Given the description of an element on the screen output the (x, y) to click on. 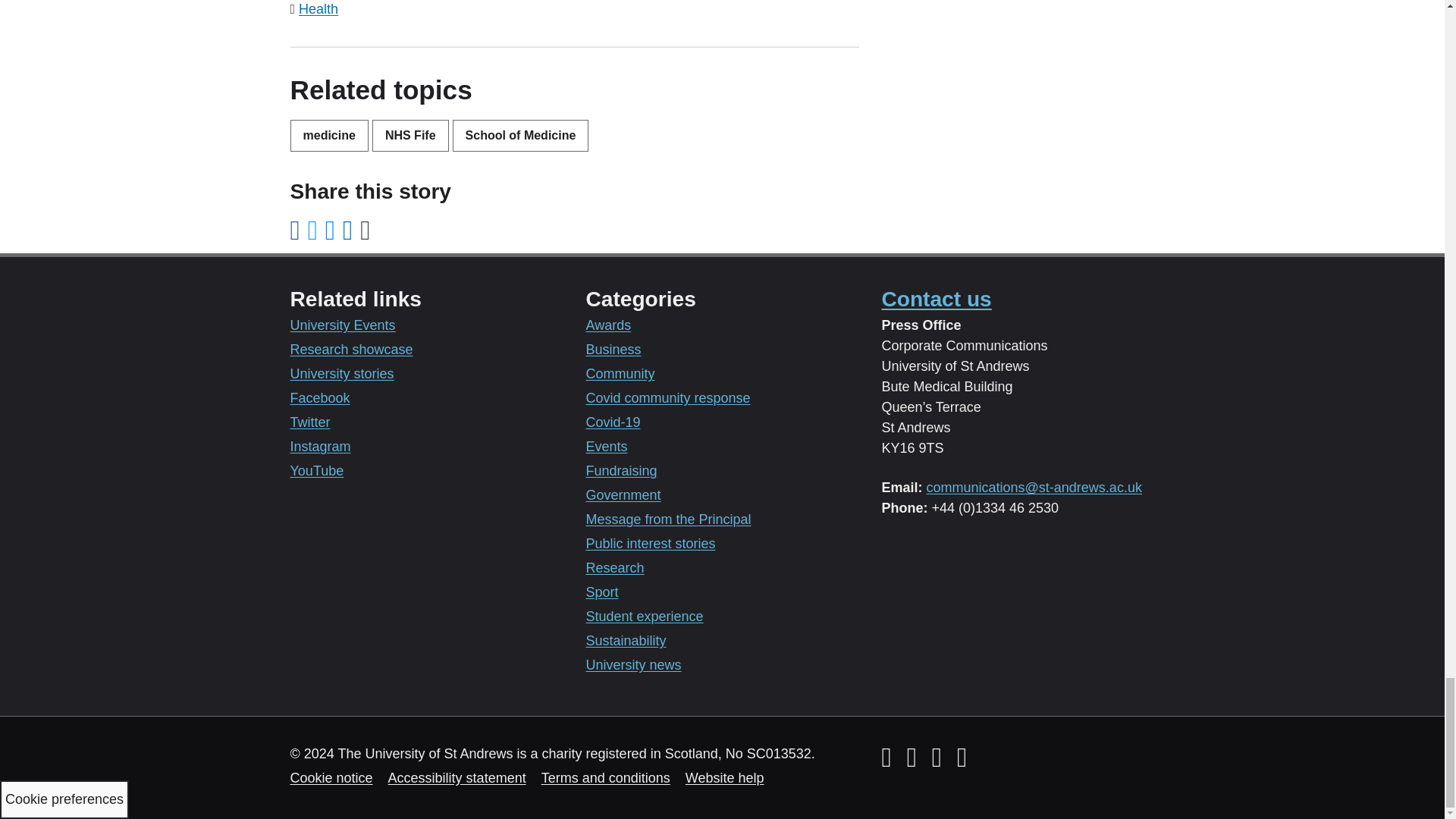
Health (317, 8)
School of Medicine (520, 135)
NHS Fife (410, 135)
medicine (328, 135)
